Given the description of an element on the screen output the (x, y) to click on. 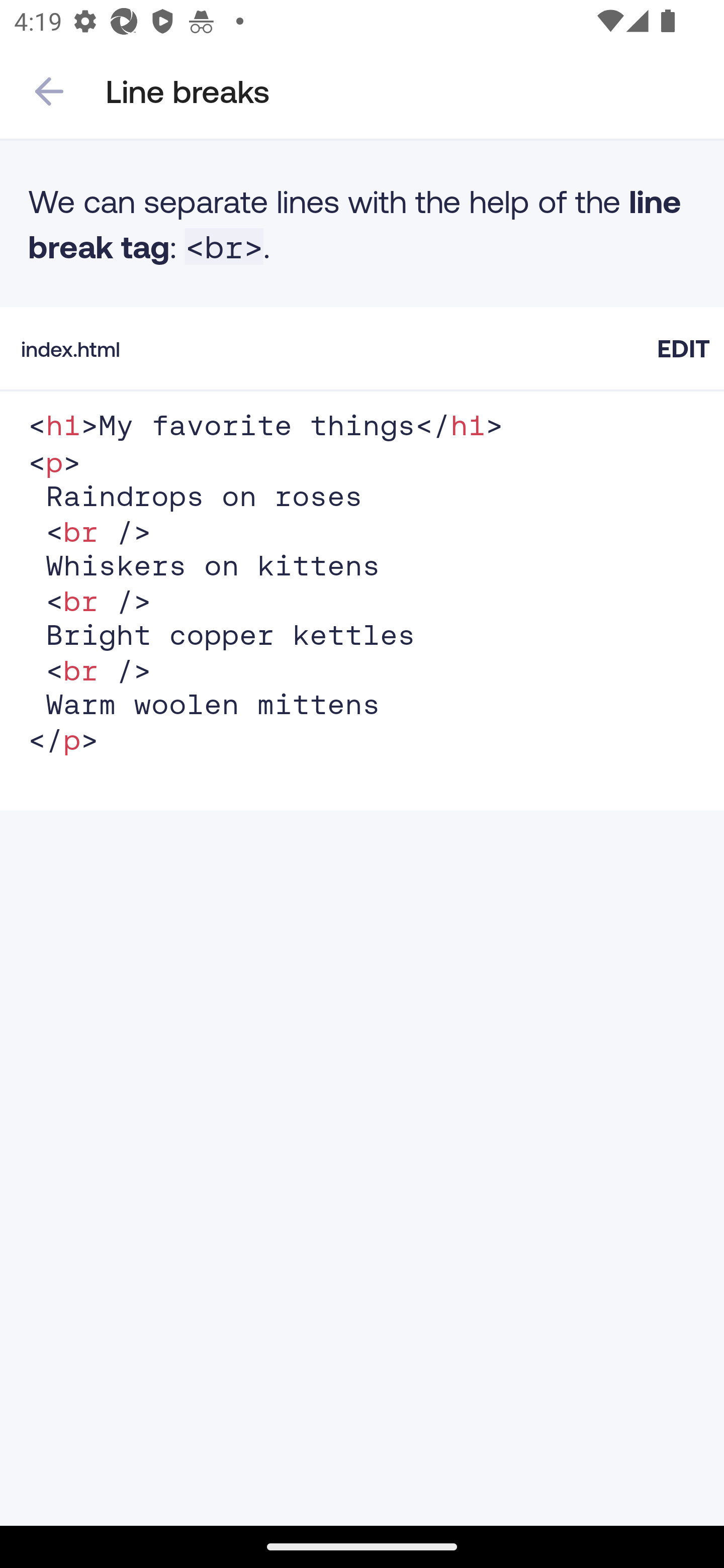
Navigate up (49, 91)
EDIT (683, 347)
